Given the description of an element on the screen output the (x, y) to click on. 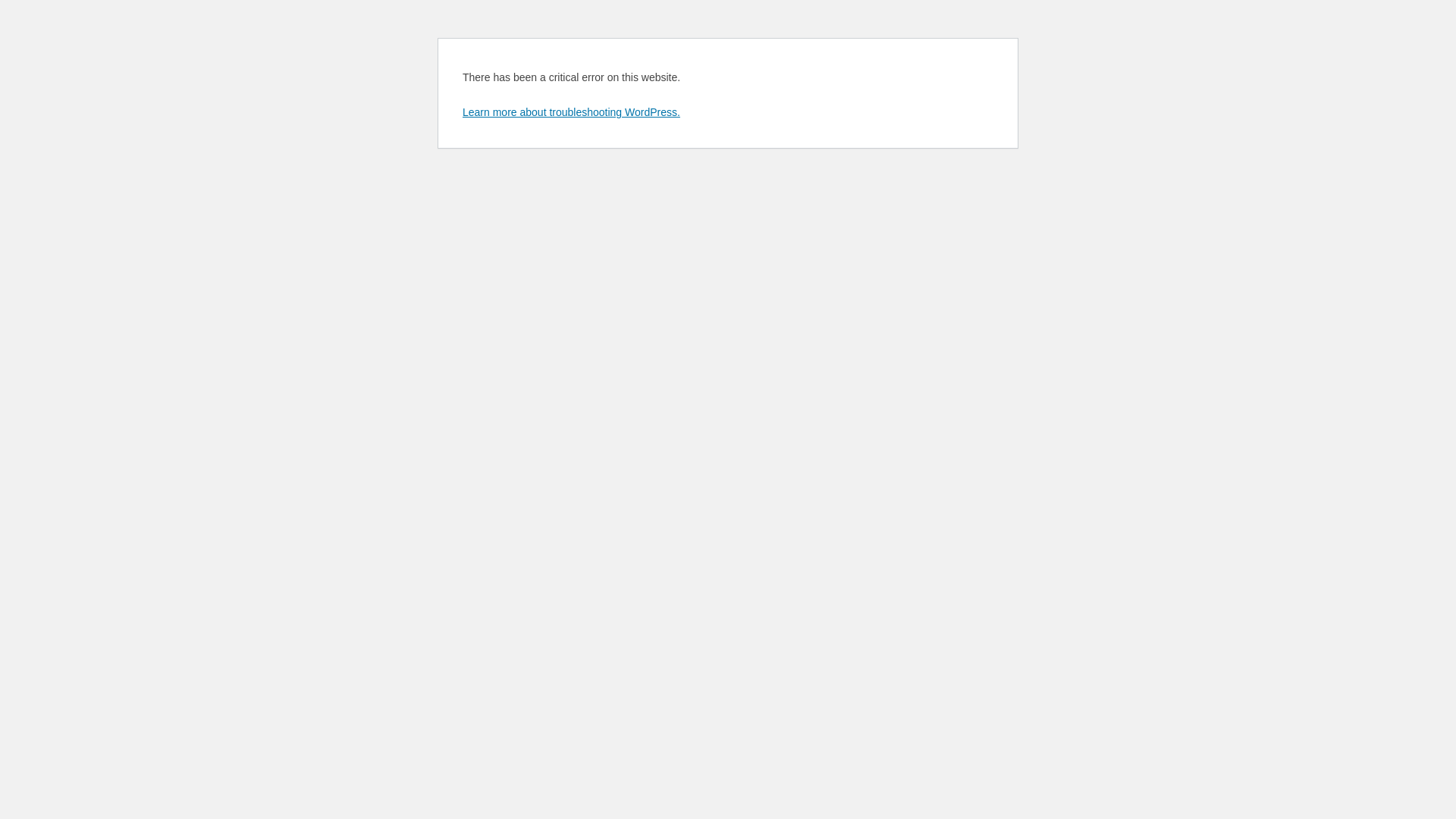
Learn more about troubleshooting WordPress. Element type: text (571, 112)
